Given the description of an element on the screen output the (x, y) to click on. 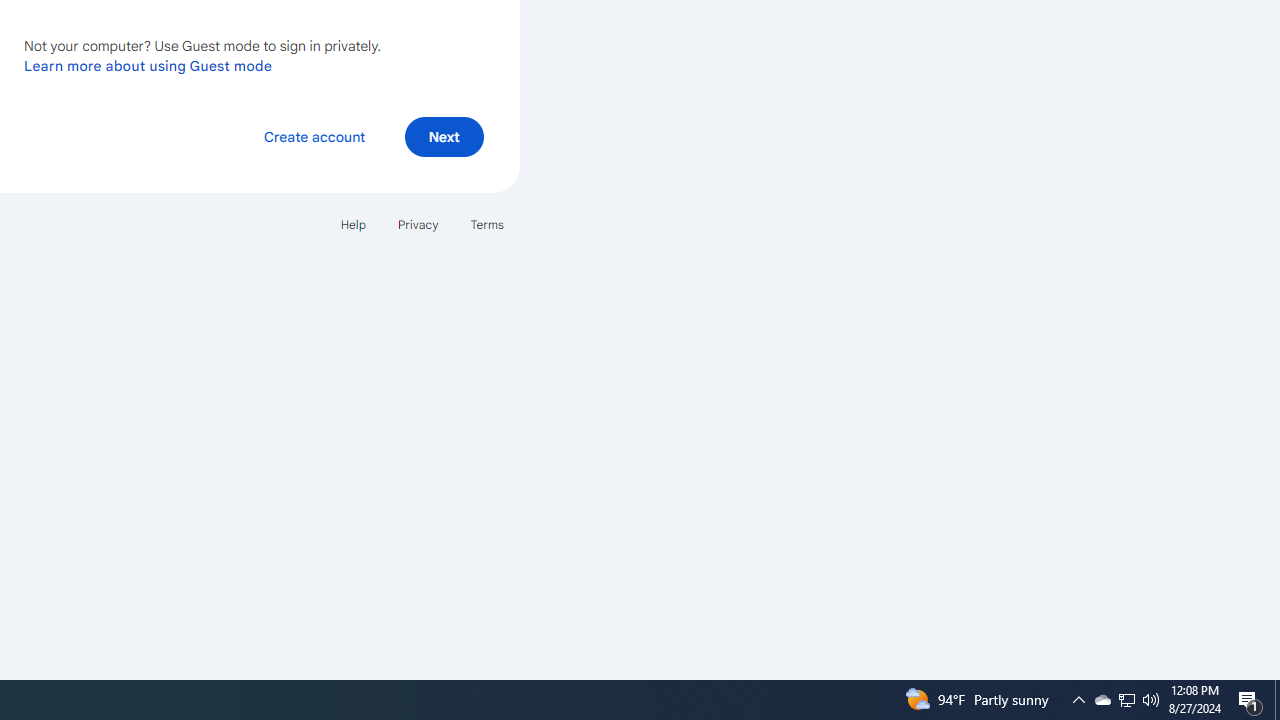
Create account (314, 135)
Learn more about using Guest mode (148, 65)
